Given the description of an element on the screen output the (x, y) to click on. 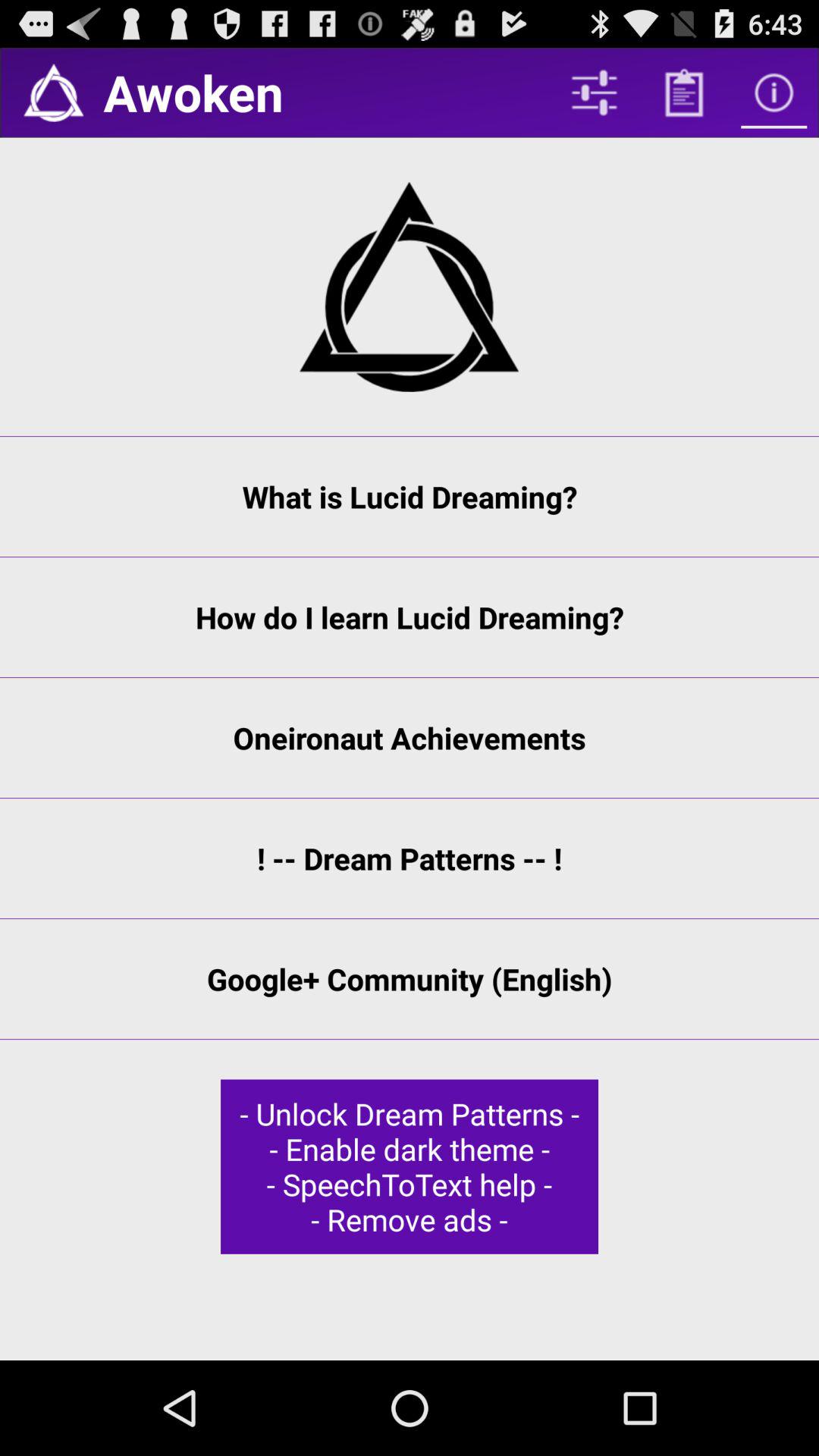
tap app below how do i icon (409, 737)
